Given the description of an element on the screen output the (x, y) to click on. 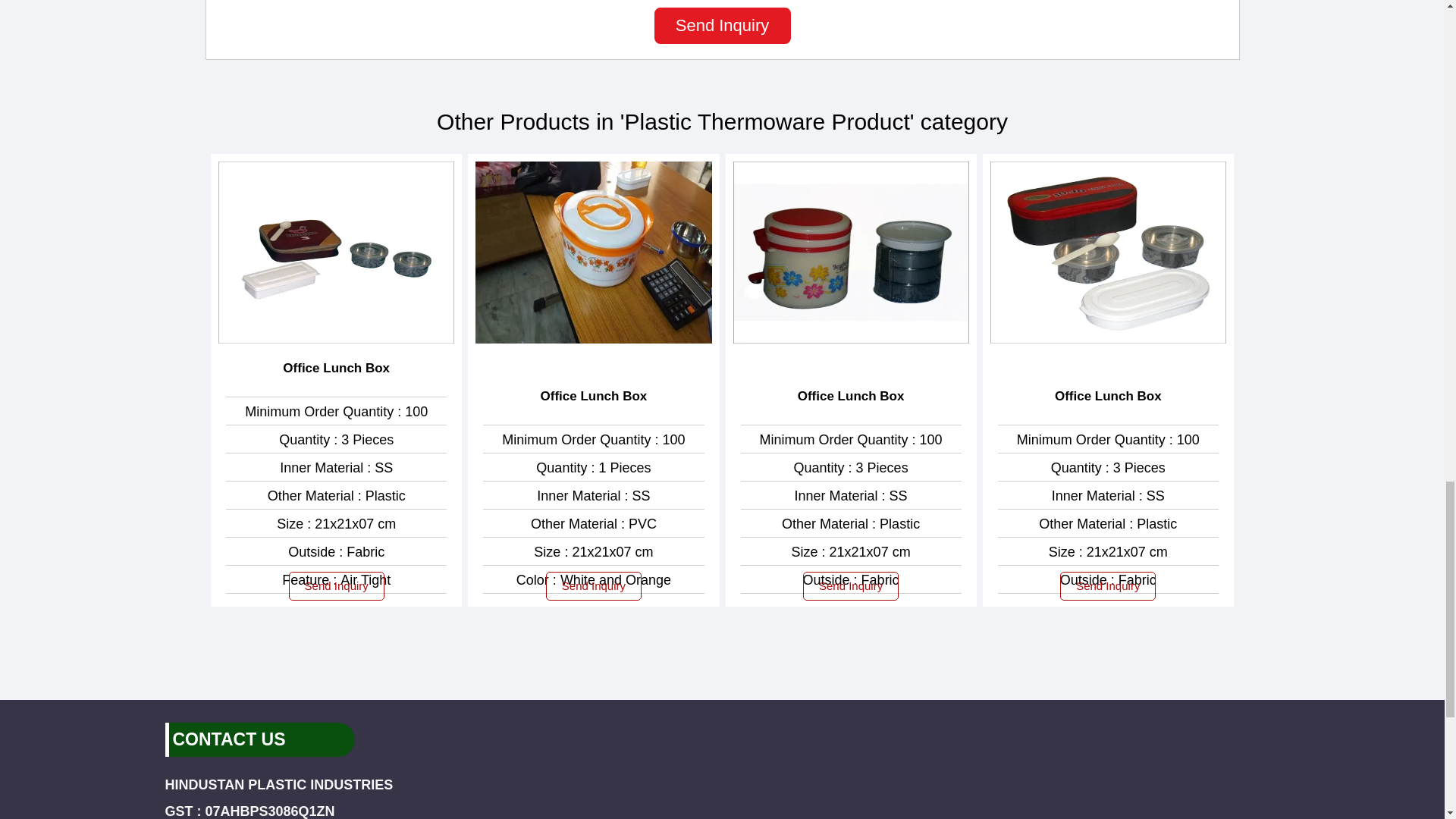
Send Inquiry (850, 585)
Send Inquiry (1107, 585)
Office Lunch Box (1107, 396)
Send Inquiry (336, 585)
Office Lunch Box (850, 396)
Send Inquiry (721, 25)
Send Inquiry (594, 585)
Office Lunch Box (593, 396)
Office Lunch Box (336, 368)
